Given the description of an element on the screen output the (x, y) to click on. 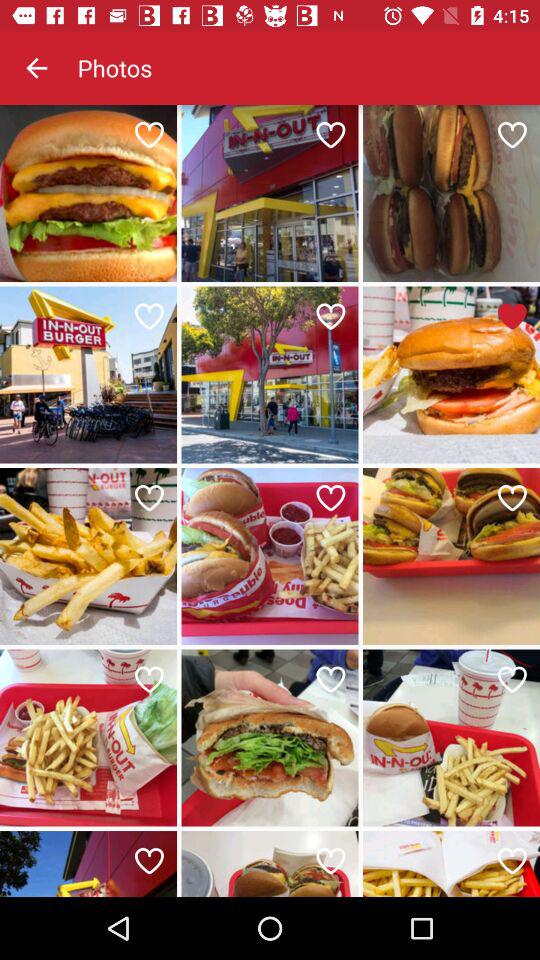
turn off the item below photos (148, 134)
